Given the description of an element on the screen output the (x, y) to click on. 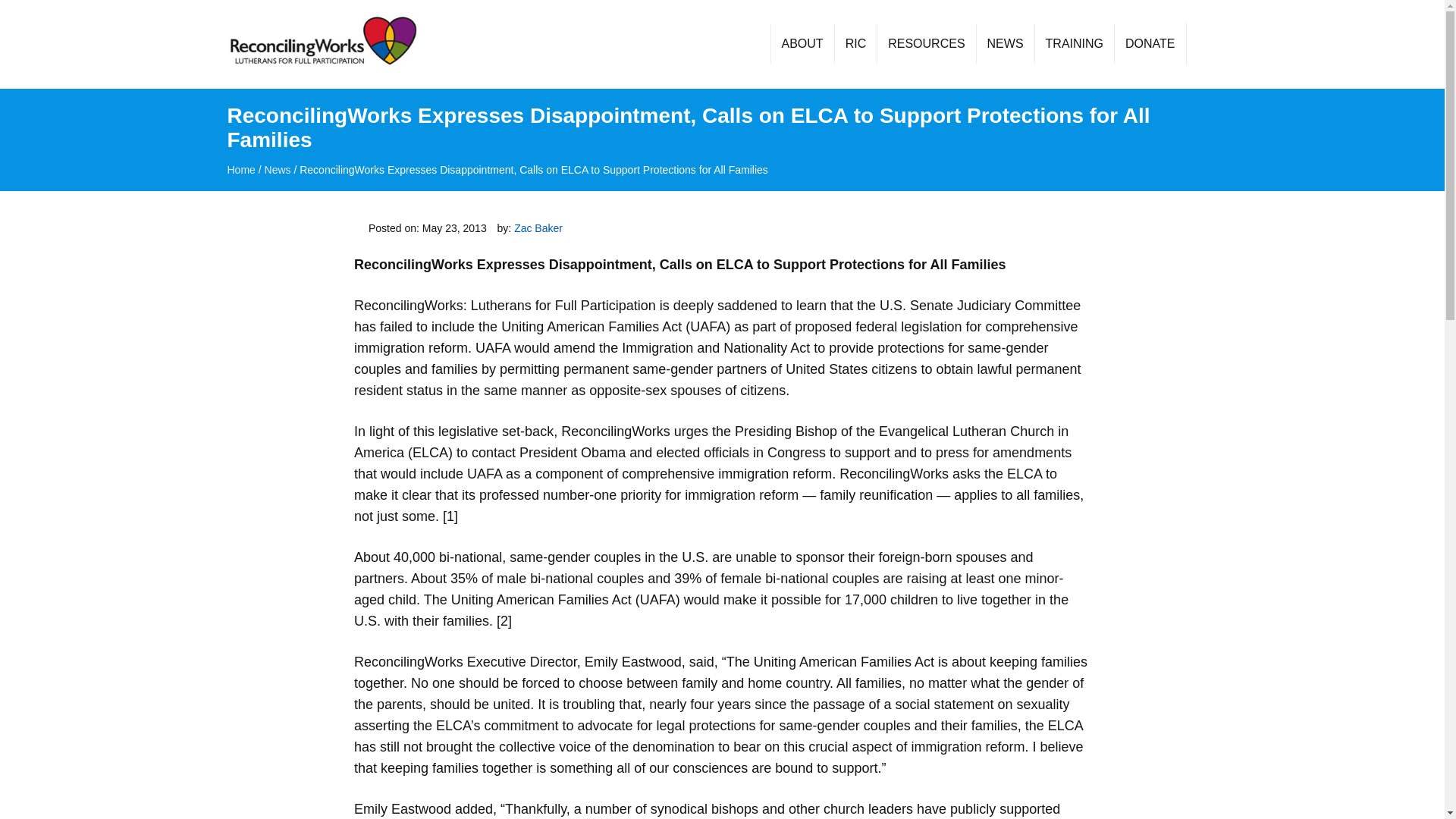
NEWS (1004, 43)
RIC (855, 43)
Reconciling Works (321, 44)
DONATE (1149, 43)
TRAINING (1073, 43)
RESOURCES (925, 43)
Posts by Zac Baker (537, 227)
ABOUT (802, 43)
